Given the description of an element on the screen output the (x, y) to click on. 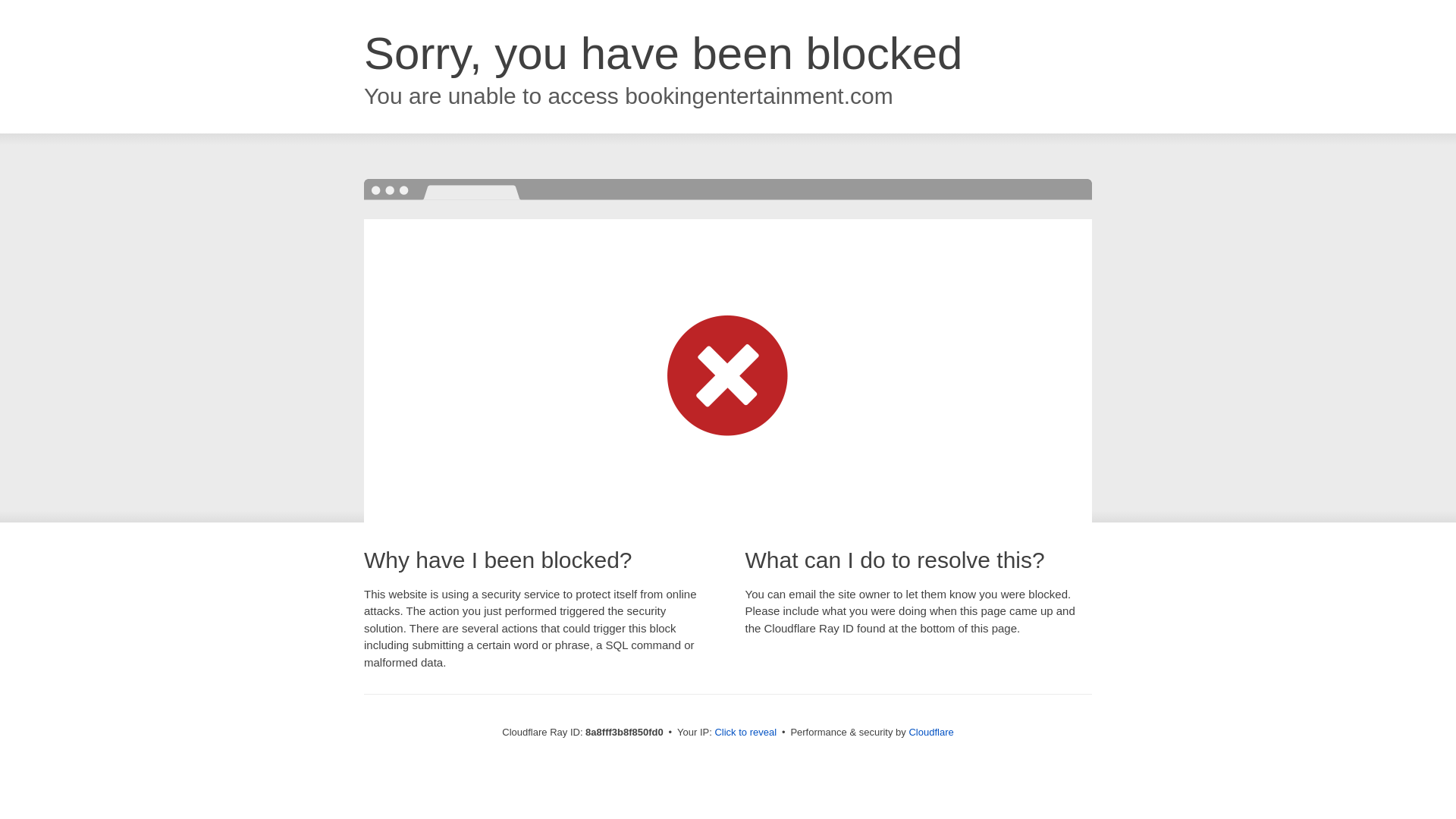
Cloudflare (930, 731)
Click to reveal (745, 732)
